Given the description of an element on the screen output the (x, y) to click on. 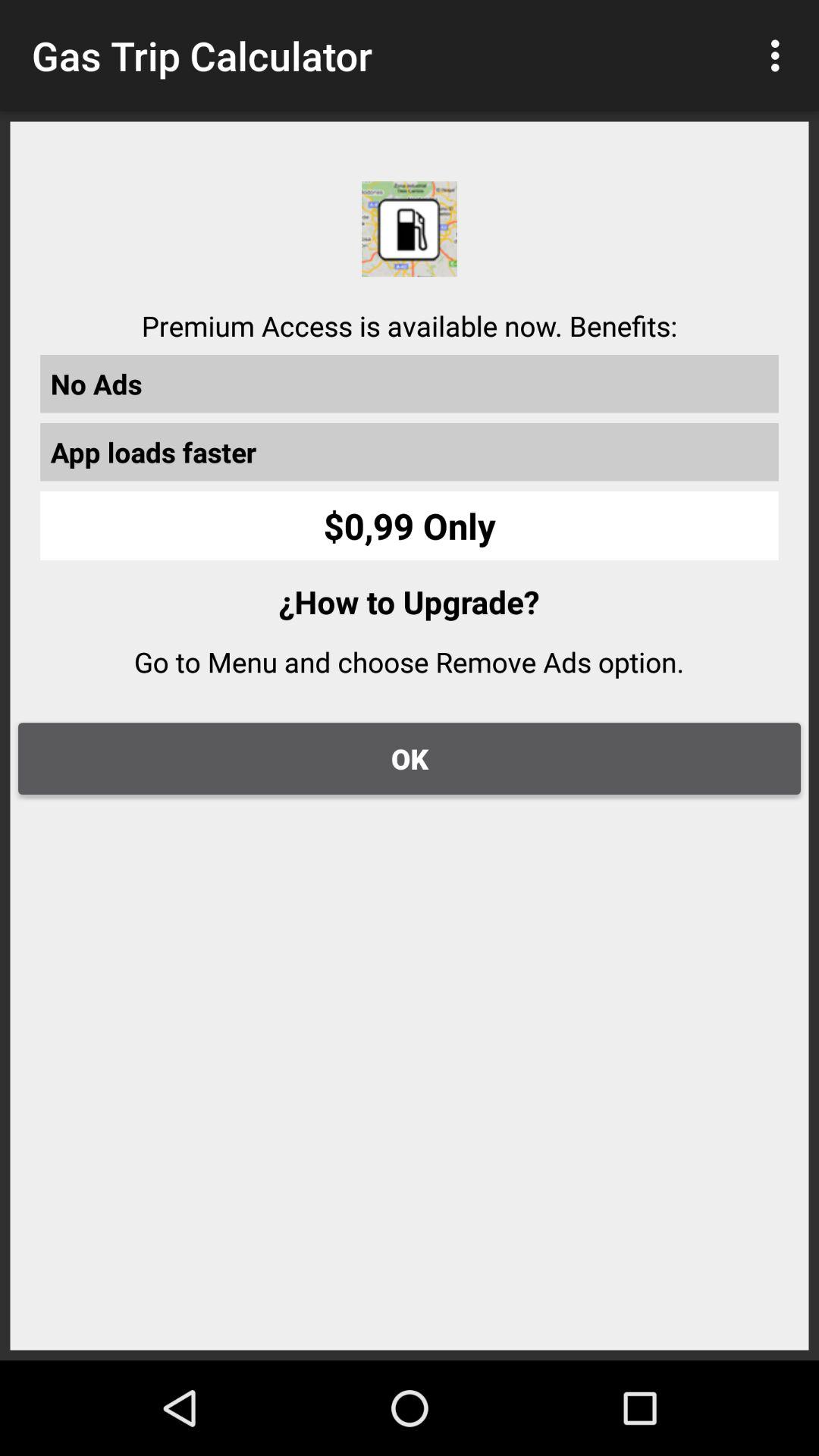
flip until the ok icon (409, 758)
